Given the description of an element on the screen output the (x, y) to click on. 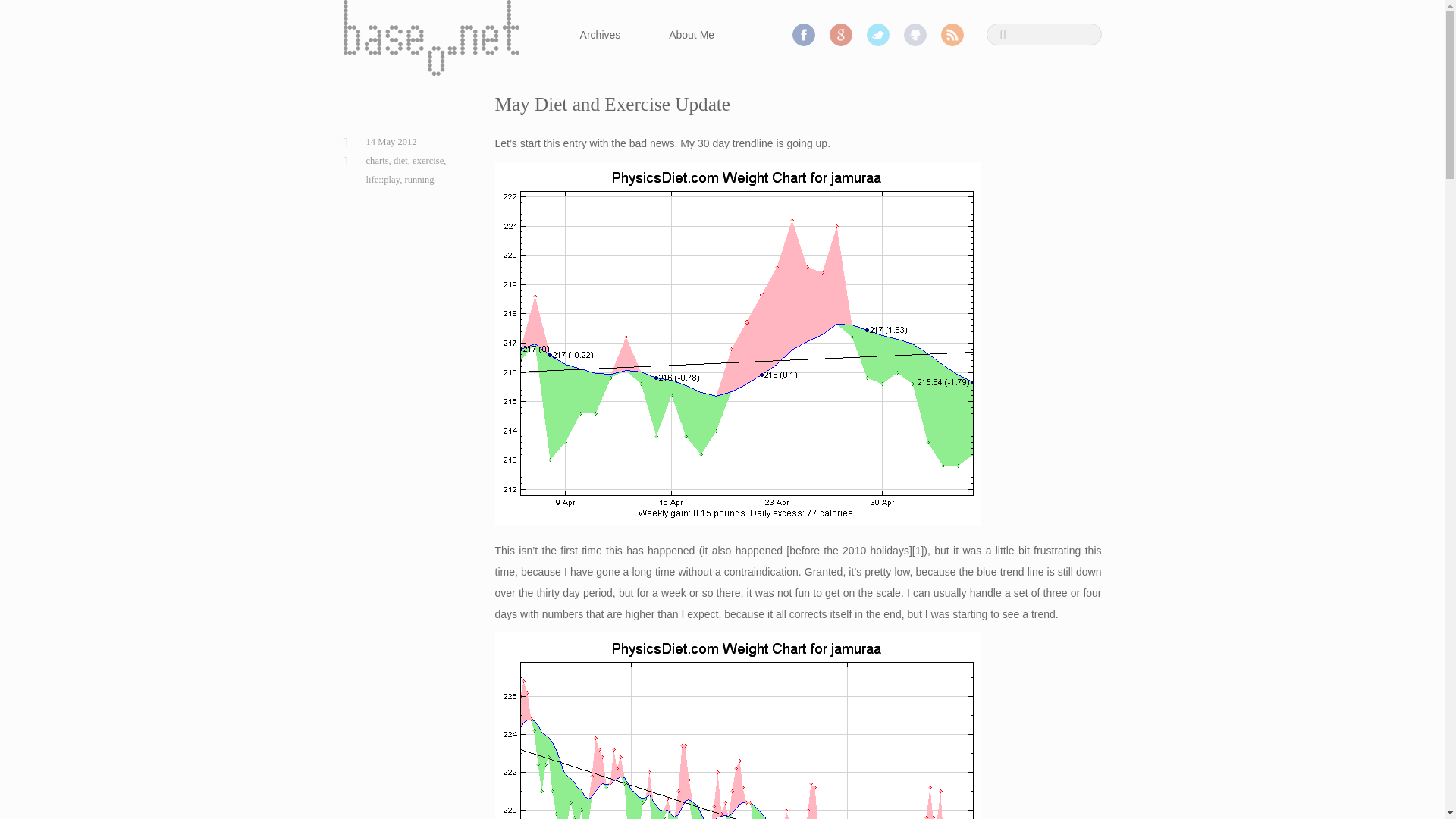
GitHub (915, 34)
diet (400, 160)
RSS (951, 34)
Facebook (803, 34)
RSS (951, 34)
Twitter (877, 34)
life::play (381, 179)
Facebook (803, 34)
Archives (603, 34)
running (418, 179)
GitHub (915, 34)
charts (376, 160)
exercise (428, 160)
base0.net (430, 38)
Twitter (877, 34)
